Given the description of an element on the screen output the (x, y) to click on. 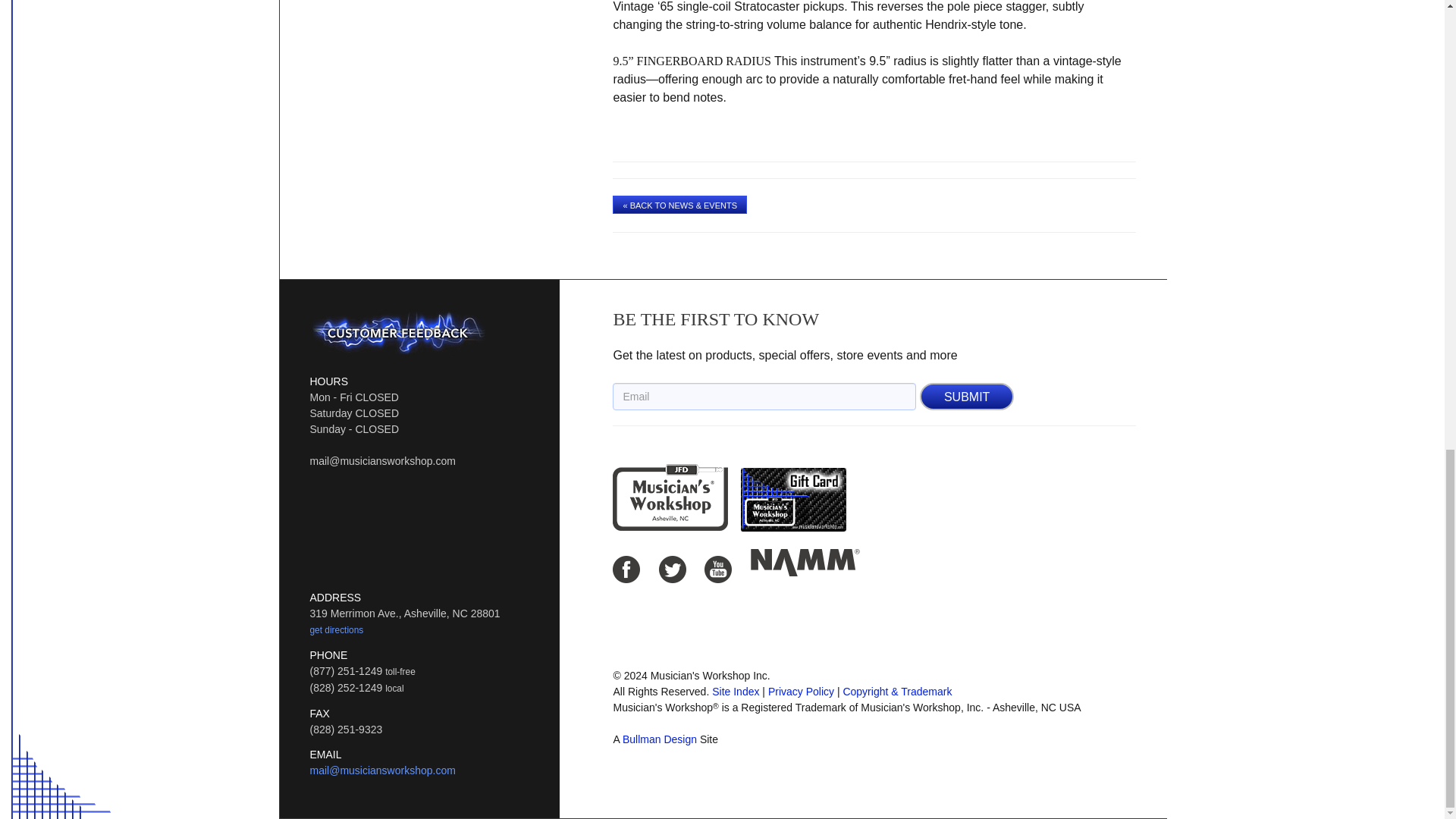
get directions (335, 629)
Site index (734, 691)
Musician's Workshop Virtual E-Card (793, 472)
Feedback (397, 332)
YouTube (718, 569)
Send Us Your Feedback (397, 332)
Bullman Design (660, 739)
Email us (381, 770)
Twitter (672, 569)
Copyright and Trademark Notice (897, 691)
